Given the description of an element on the screen output the (x, y) to click on. 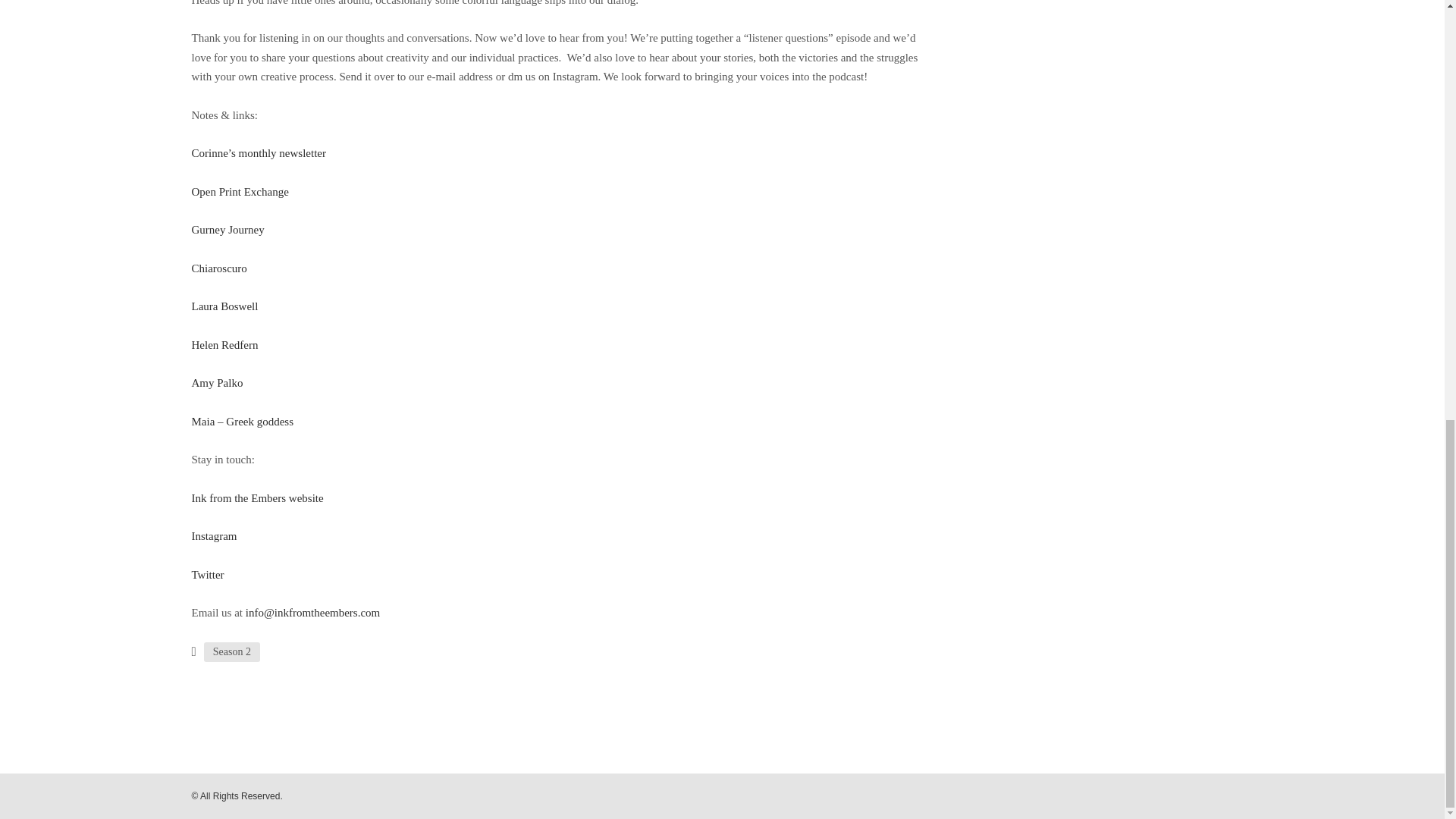
Helen Redfern (223, 345)
Chiaroscuro (218, 267)
Amy Palko (216, 382)
Open Print Exchange (239, 191)
Gurney Journey (226, 229)
Laura Boswell (223, 306)
Ink from the Embers website (256, 498)
